Given the description of an element on the screen output the (x, y) to click on. 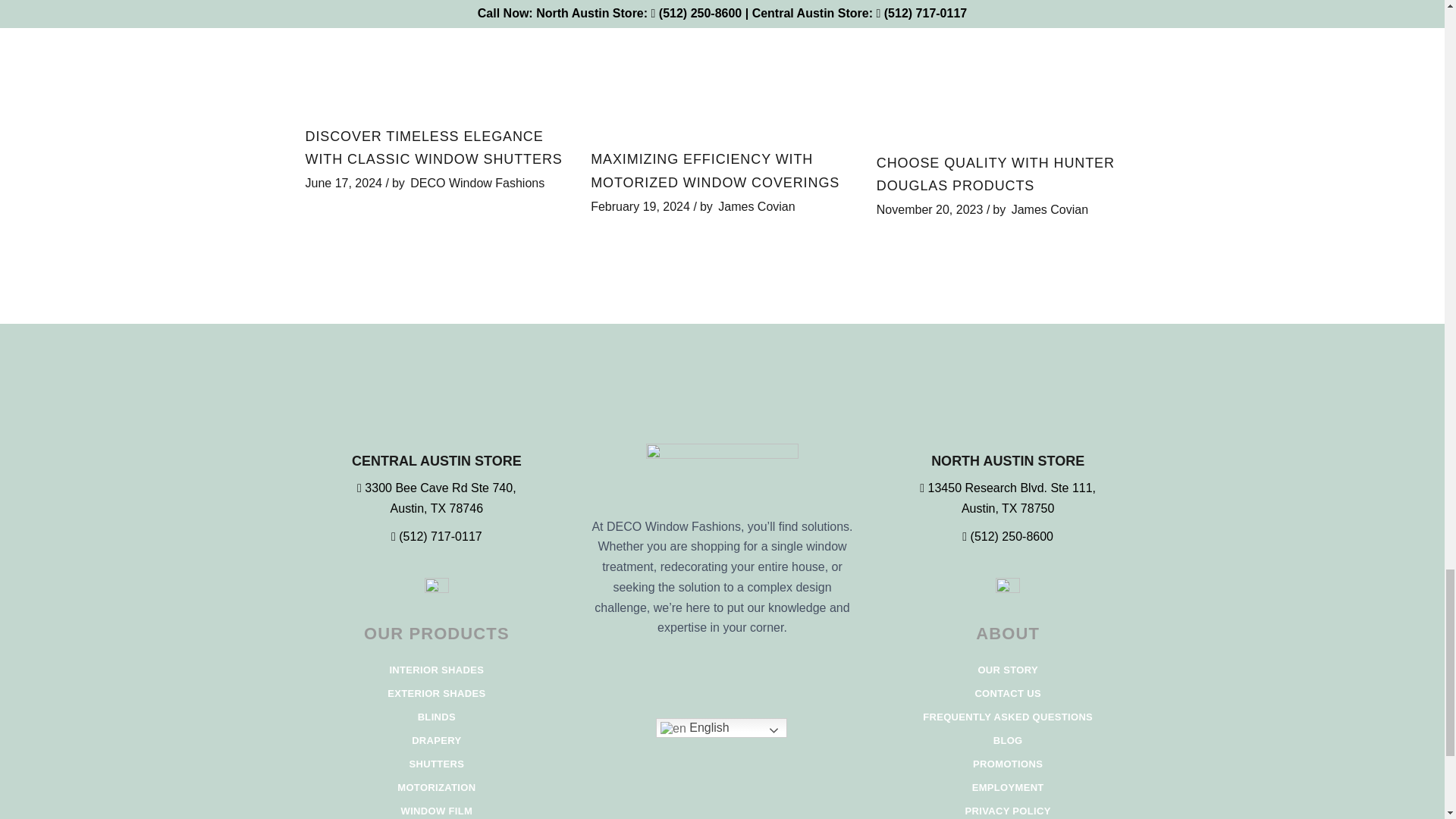
Maximizing Efficiency with Motorized Window Coverings (722, 66)
Discover Timeless Elegance with Classic Window Shutters (433, 147)
Choose Quality with Hunter Douglas Products (995, 174)
Maximizing Efficiency with Motorized Window Coverings (715, 170)
Discover Timeless Elegance with Classic Window Shutters (435, 54)
Choose Quality with Hunter Douglas Products (1008, 68)
